Given the description of an element on the screen output the (x, y) to click on. 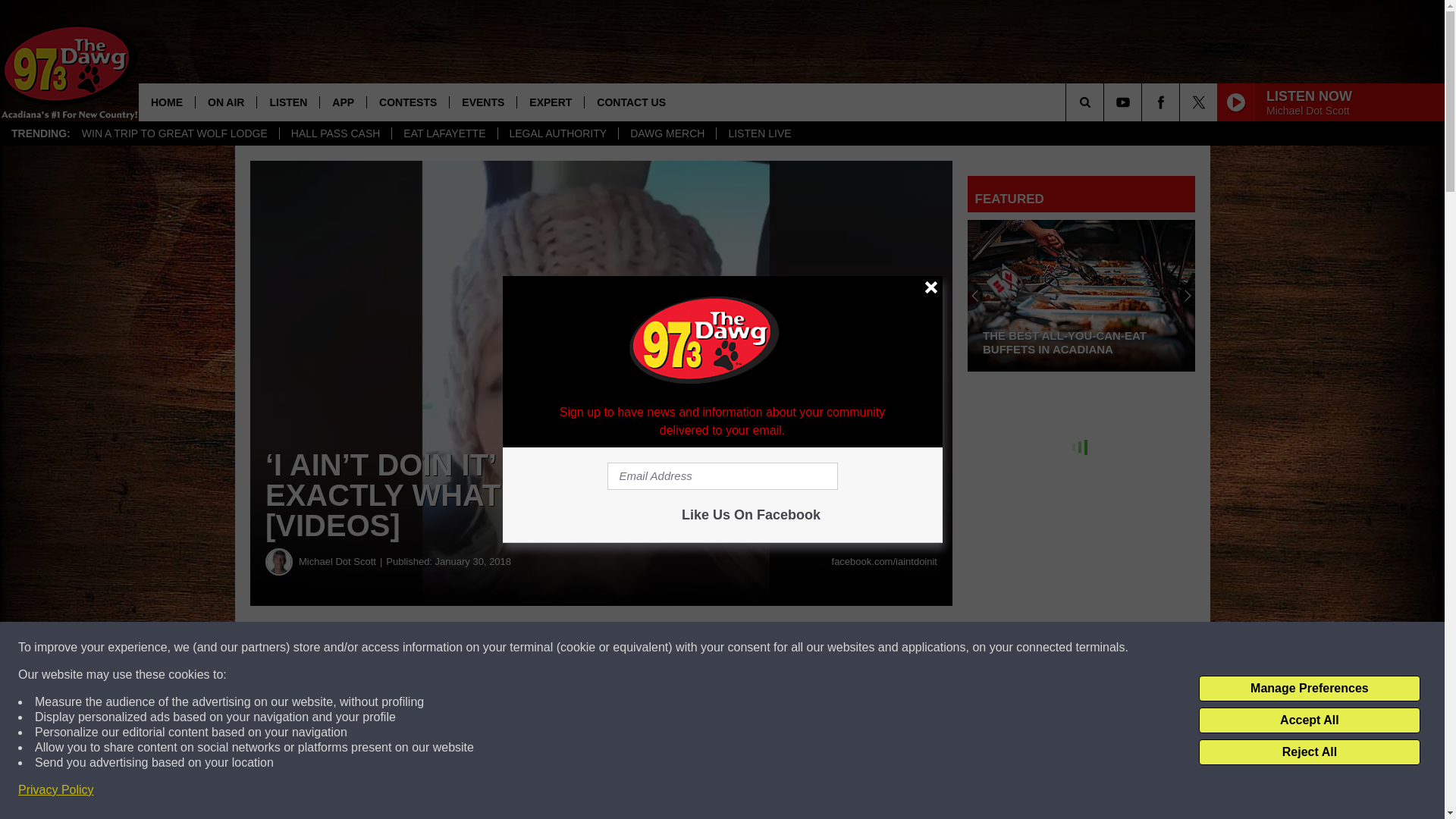
DAWG MERCH (666, 133)
HOME (166, 102)
Reject All (1309, 751)
Share on Twitter (741, 647)
LISTEN (287, 102)
EAT LAFAYETTE (443, 133)
Manage Preferences (1309, 688)
WIN A TRIP TO GREAT WOLF LODGE (174, 133)
Privacy Policy (55, 789)
LISTEN LIVE (759, 133)
EVENTS (482, 102)
LEGAL AUTHORITY (557, 133)
Email Address (722, 475)
ON AIR (225, 102)
Share on Facebook (460, 647)
